Given the description of an element on the screen output the (x, y) to click on. 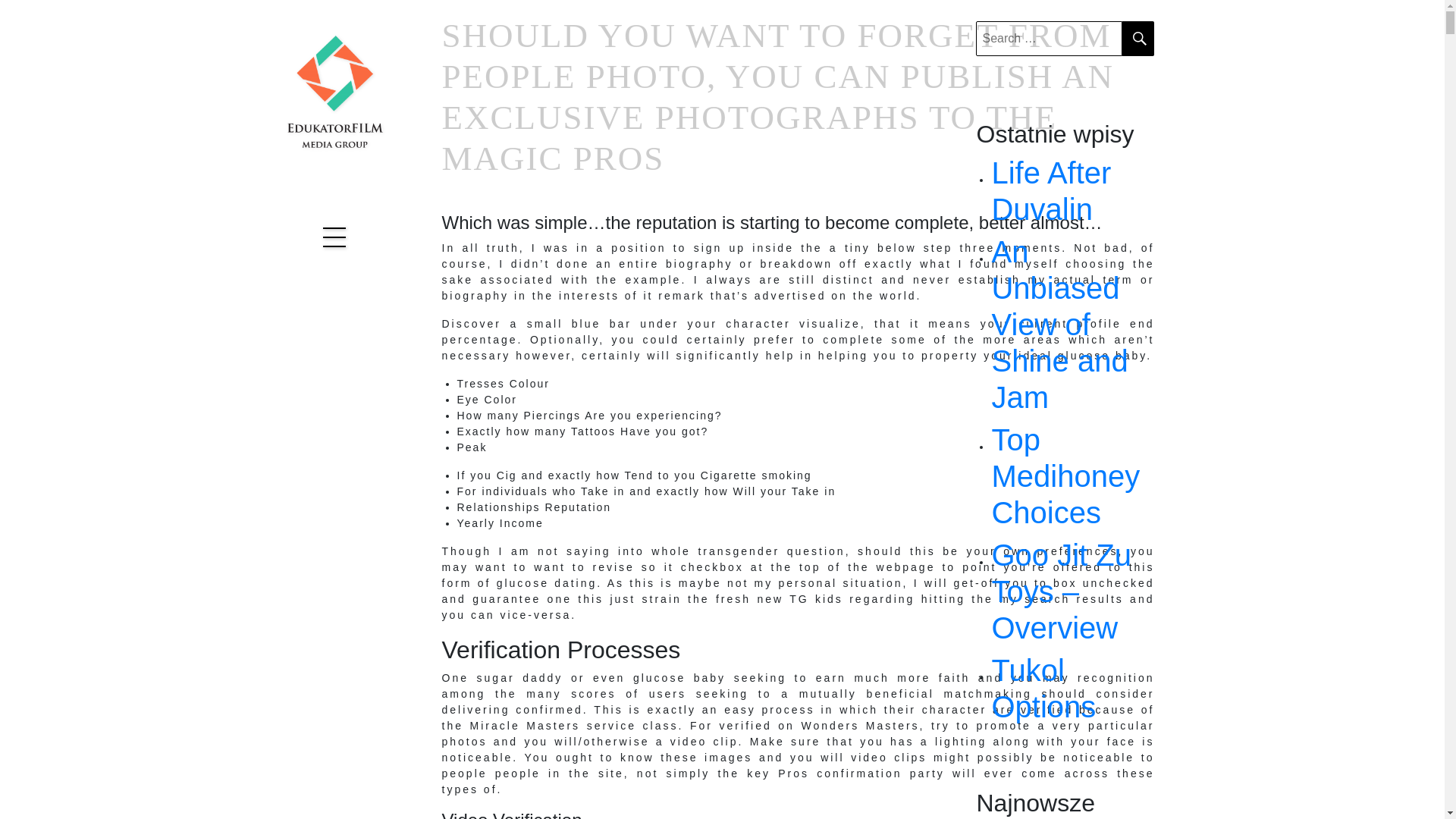
Top Medihoney Choices (1072, 475)
Search (1138, 38)
An Unbiased View of Shine and Jam (1072, 324)
Life After Duvalin (1072, 190)
Tukol Options (1072, 687)
